Given the description of an element on the screen output the (x, y) to click on. 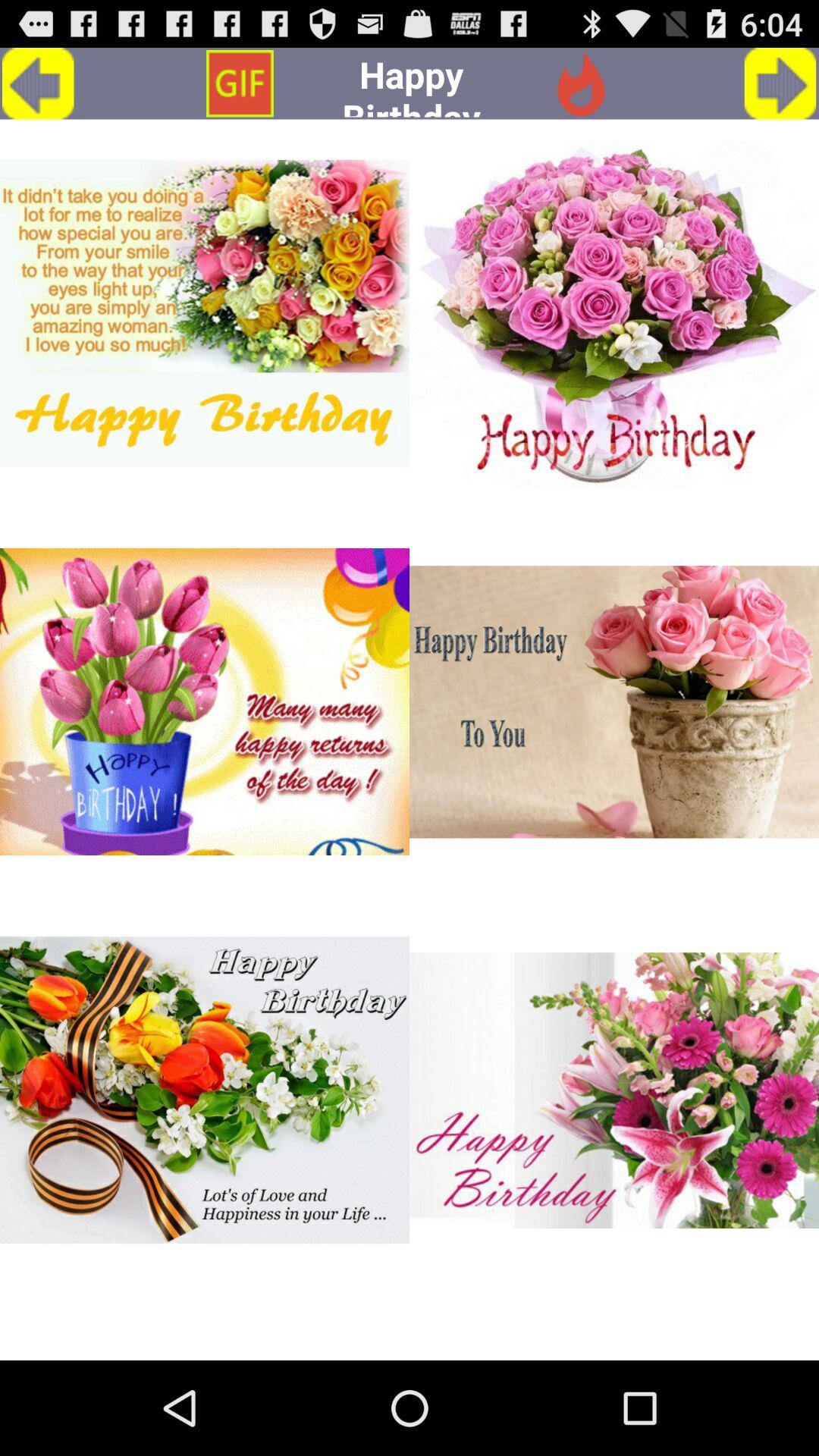
choose app next to the happy birthday app (239, 83)
